Given the description of an element on the screen output the (x, y) to click on. 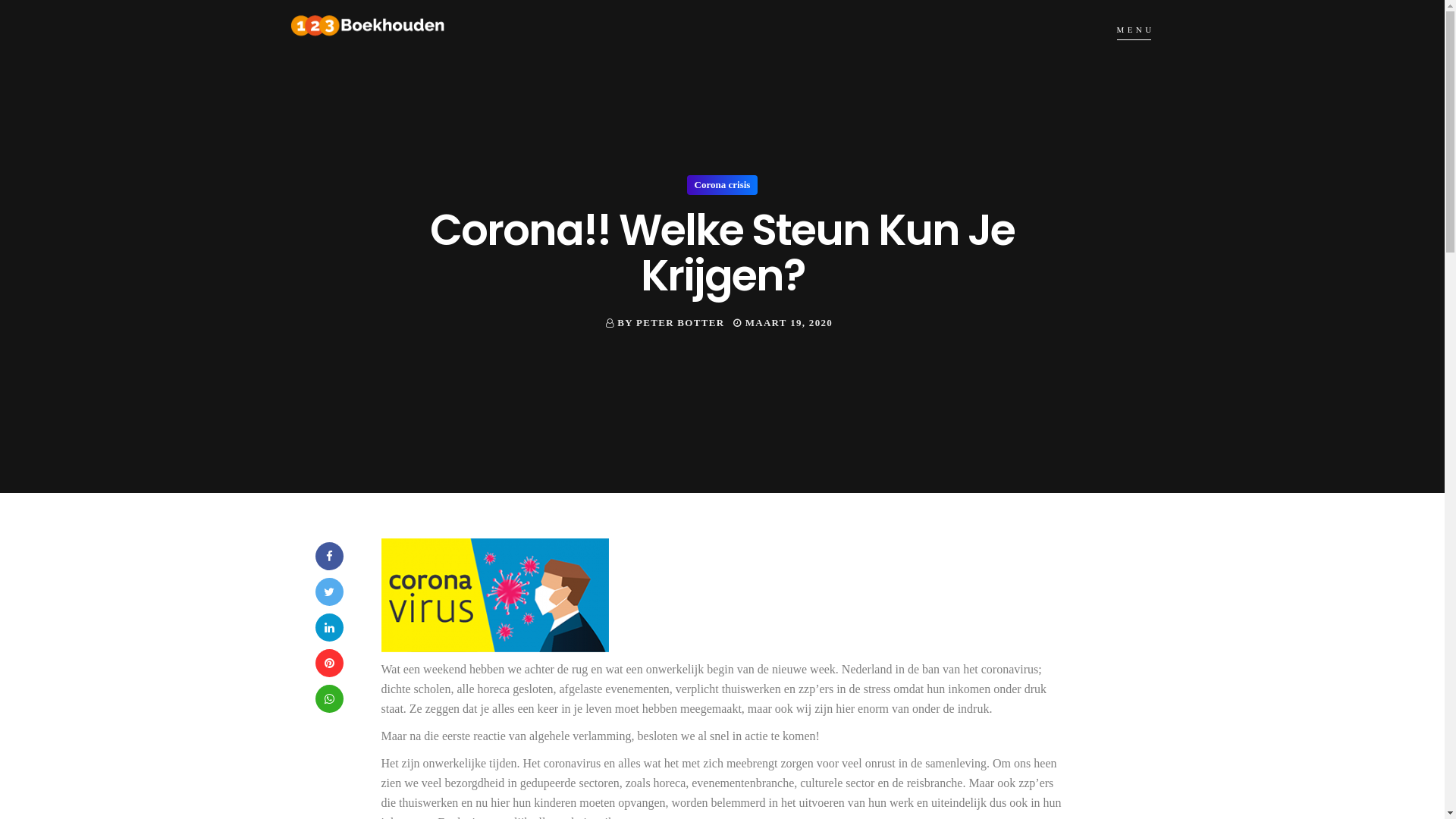
LEEF! Marketing Element type: text (833, 798)
Corona crisis Element type: text (722, 184)
Facebook Element type: hover (329, 556)
MENU Element type: text (1135, 29)
Tweet Element type: hover (329, 591)
LinkedIn Element type: hover (329, 627)
info@123boekhouden.com Element type: text (932, 574)
0546-237555 Element type: text (912, 549)
Online boekhouden gecombineerd persoonlijk advies! Element type: text (740, 560)
Online boekhouden: moet ik mijn bonnetjes nog bewaren? Element type: text (740, 633)
